Given the description of an element on the screen output the (x, y) to click on. 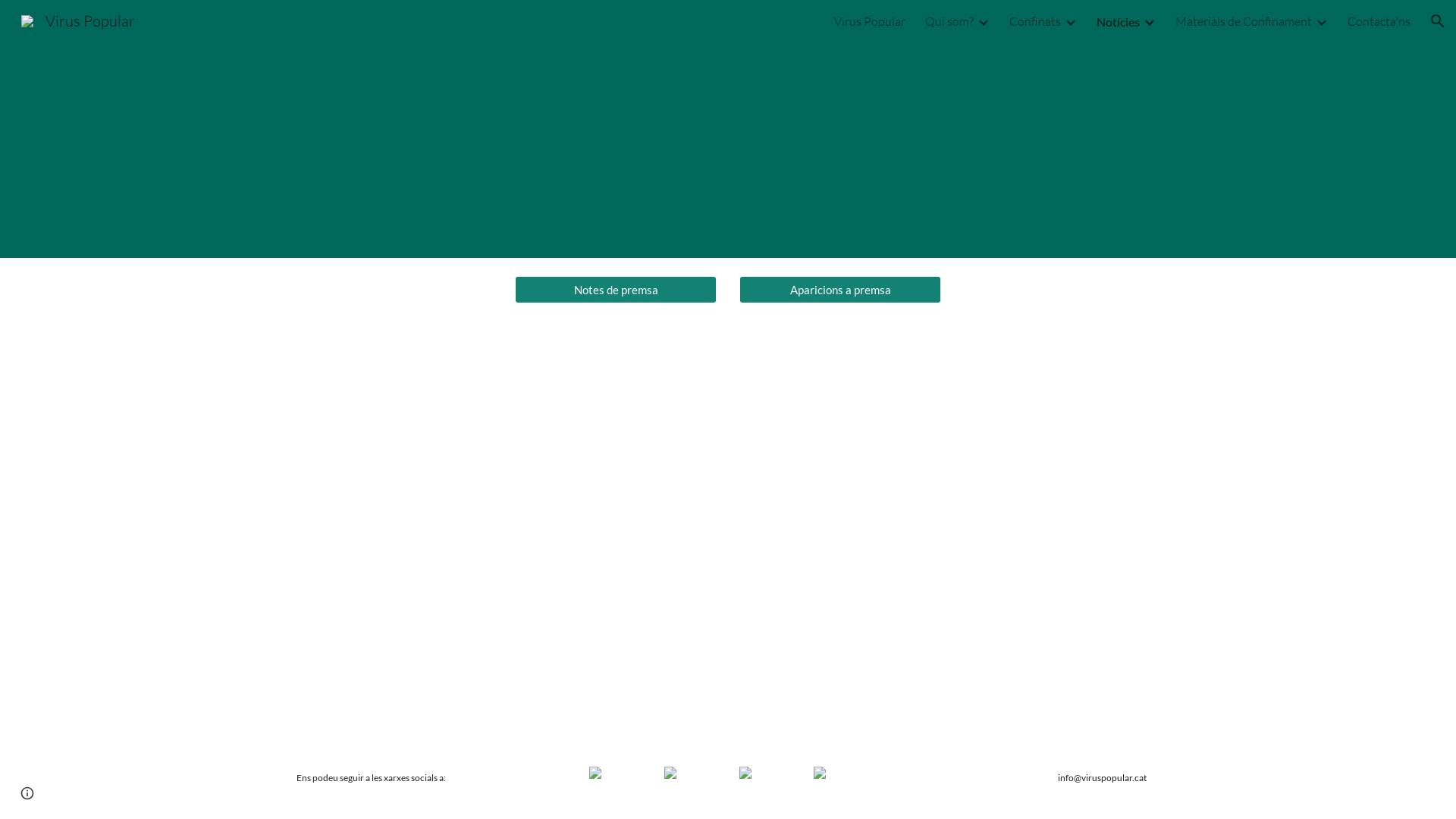
Expand/Collapse Element type: hover (982, 20)
Expand/Collapse Element type: hover (1320, 20)
Contacta'ns Element type: text (1378, 20)
Confinats Element type: text (1034, 20)
Expand/Collapse Element type: hover (1148, 20)
Virus Popular Element type: text (78, 18)
Notes de premsa Element type: text (615, 289)
Expand/Collapse Element type: hover (1069, 20)
Virus Popular Element type: text (869, 20)
Qui som? Element type: text (949, 20)
Aparicions a premsa Element type: text (840, 289)
Materials de Confinament Element type: text (1243, 20)
